Given the description of an element on the screen output the (x, y) to click on. 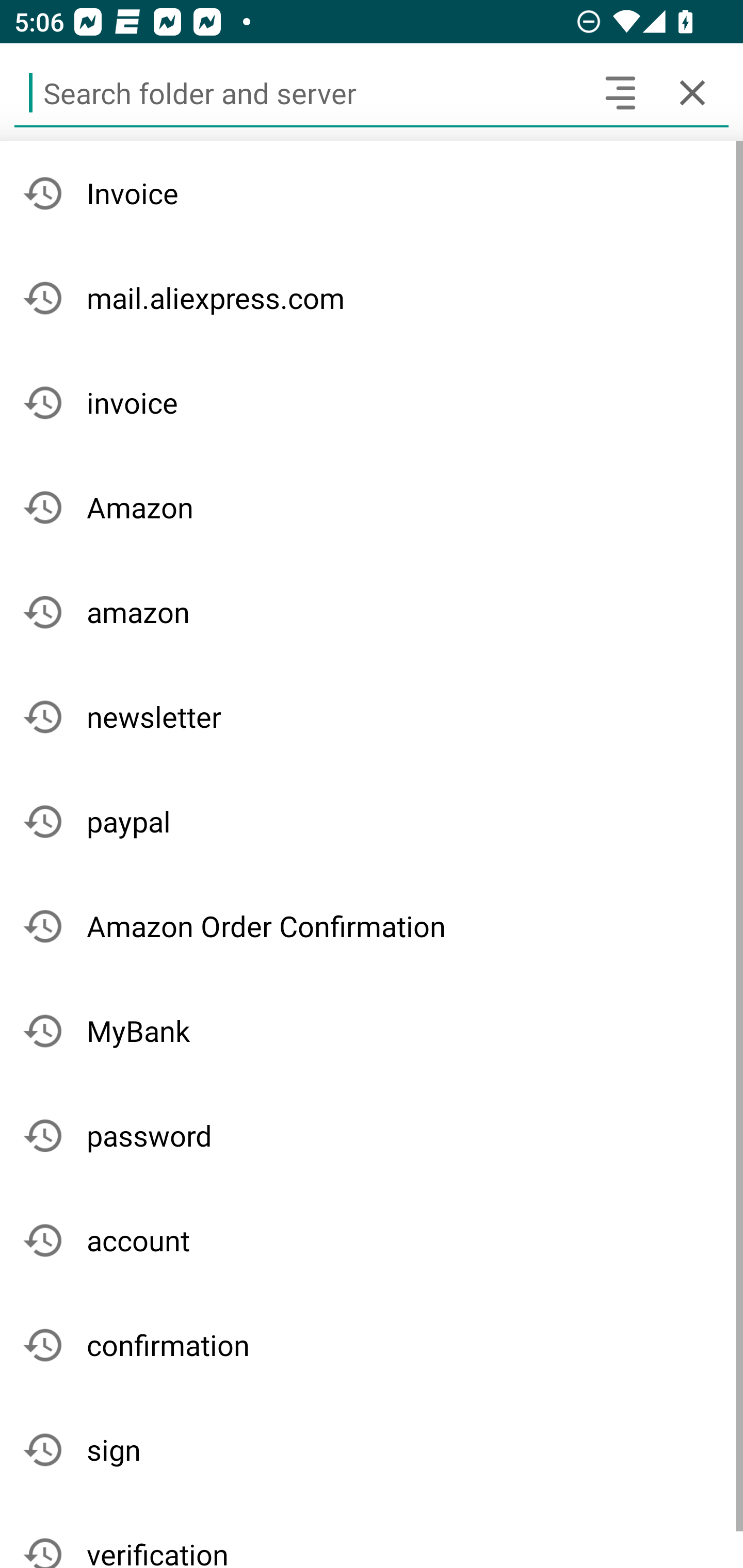
   Search folder and server (298, 92)
Search headers and text (619, 92)
Cancel (692, 92)
